Given the description of an element on the screen output the (x, y) to click on. 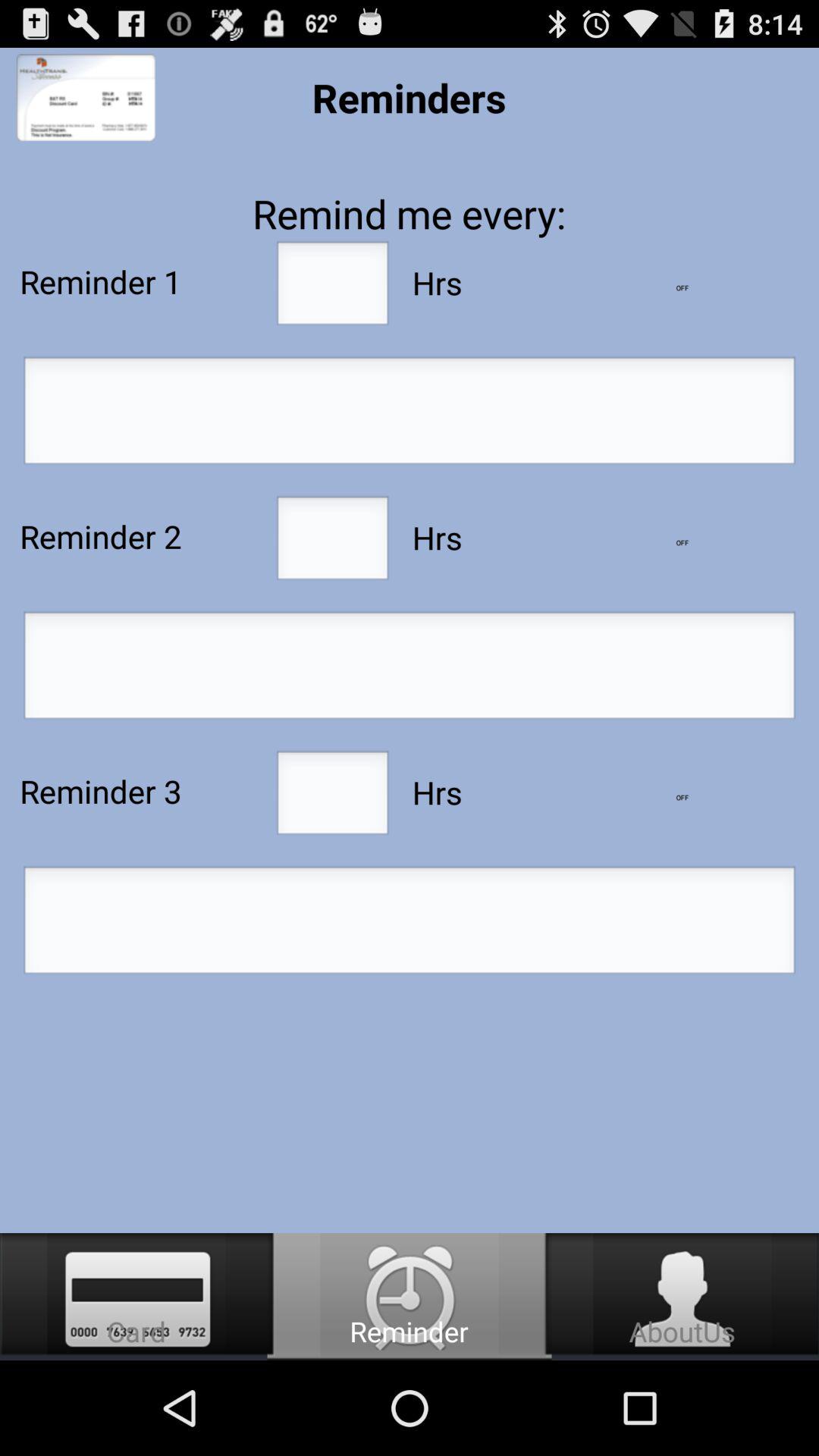
see more information (682, 797)
